Given the description of an element on the screen output the (x, y) to click on. 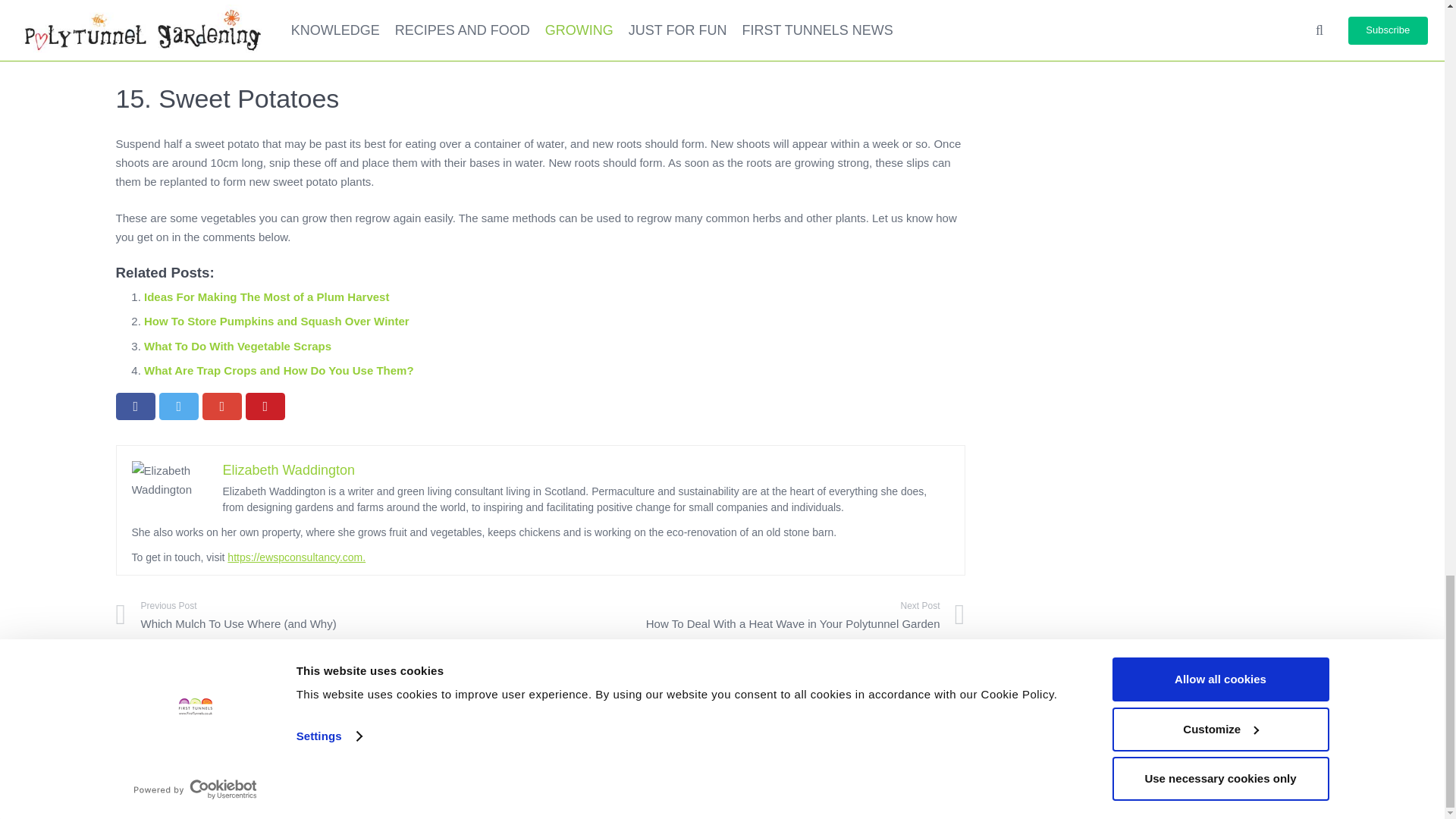
What To Do With Vegetable Scraps (237, 345)
Share this (135, 406)
What Are Trap Crops and How Do You Use Them? (278, 369)
Ideas For Making The Most of a Plum Harvest (266, 296)
Share this (221, 406)
Tweet this (178, 406)
How To Store Pumpkins and Squash Over Winter (276, 320)
